Given the description of an element on the screen output the (x, y) to click on. 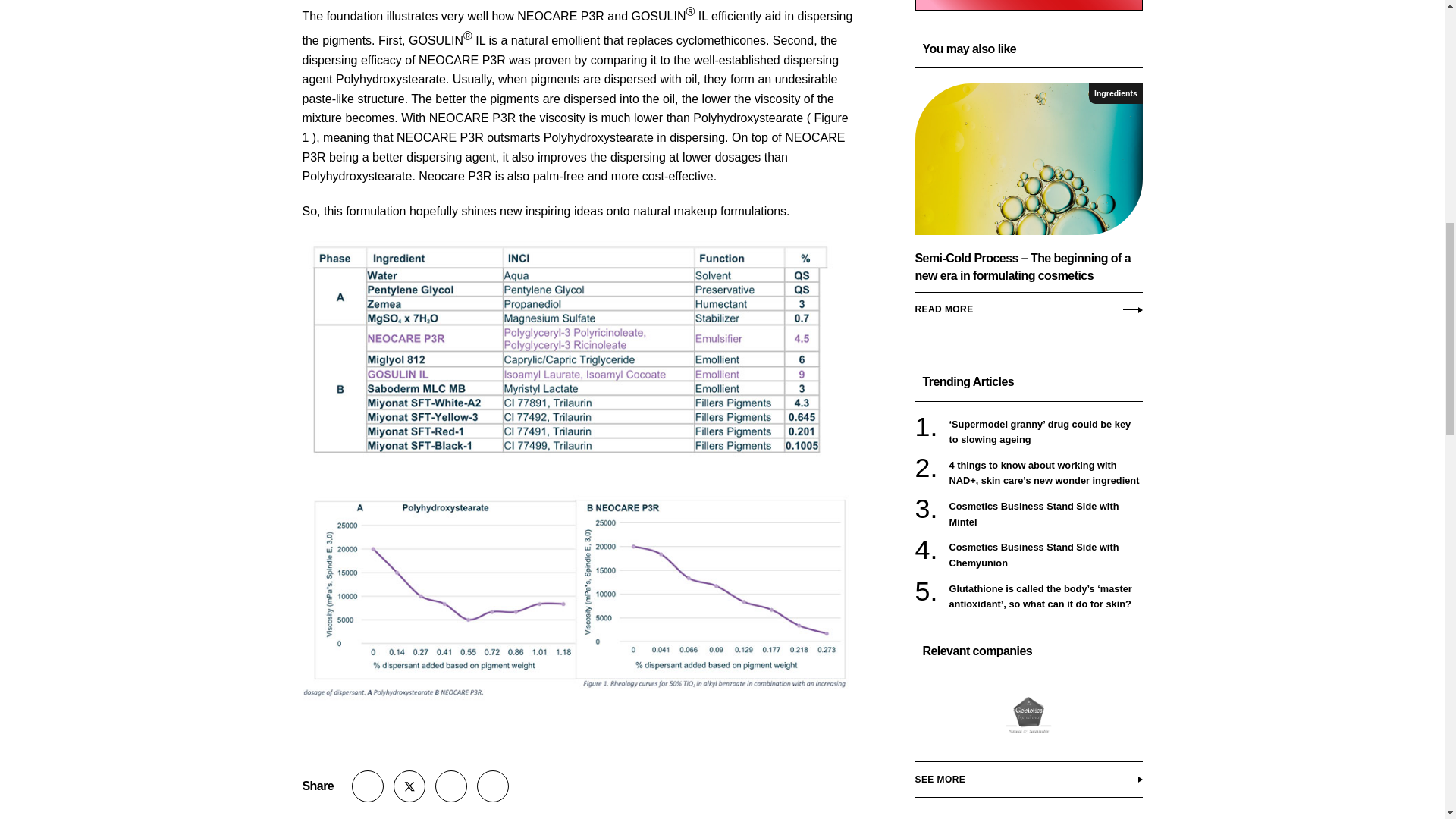
LinkedIn (451, 786)
Follow Cosmetics Business on LinkedIn (451, 786)
Share (368, 786)
Share this article (368, 786)
Follow Cosmetics Business on X (409, 786)
Facebook (492, 786)
X (409, 786)
